Given the description of an element on the screen output the (x, y) to click on. 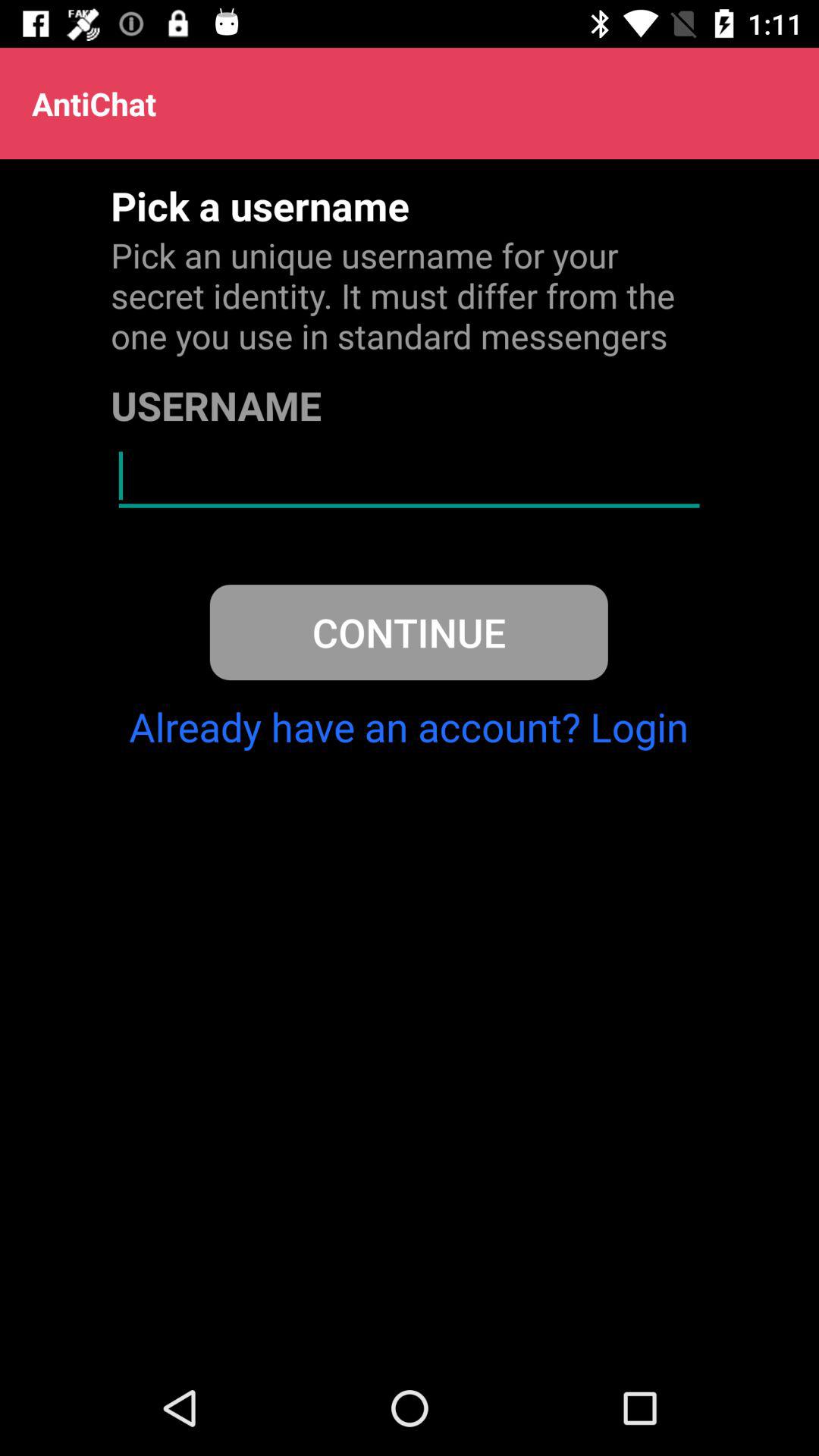
username field (408, 476)
